Given the description of an element on the screen output the (x, y) to click on. 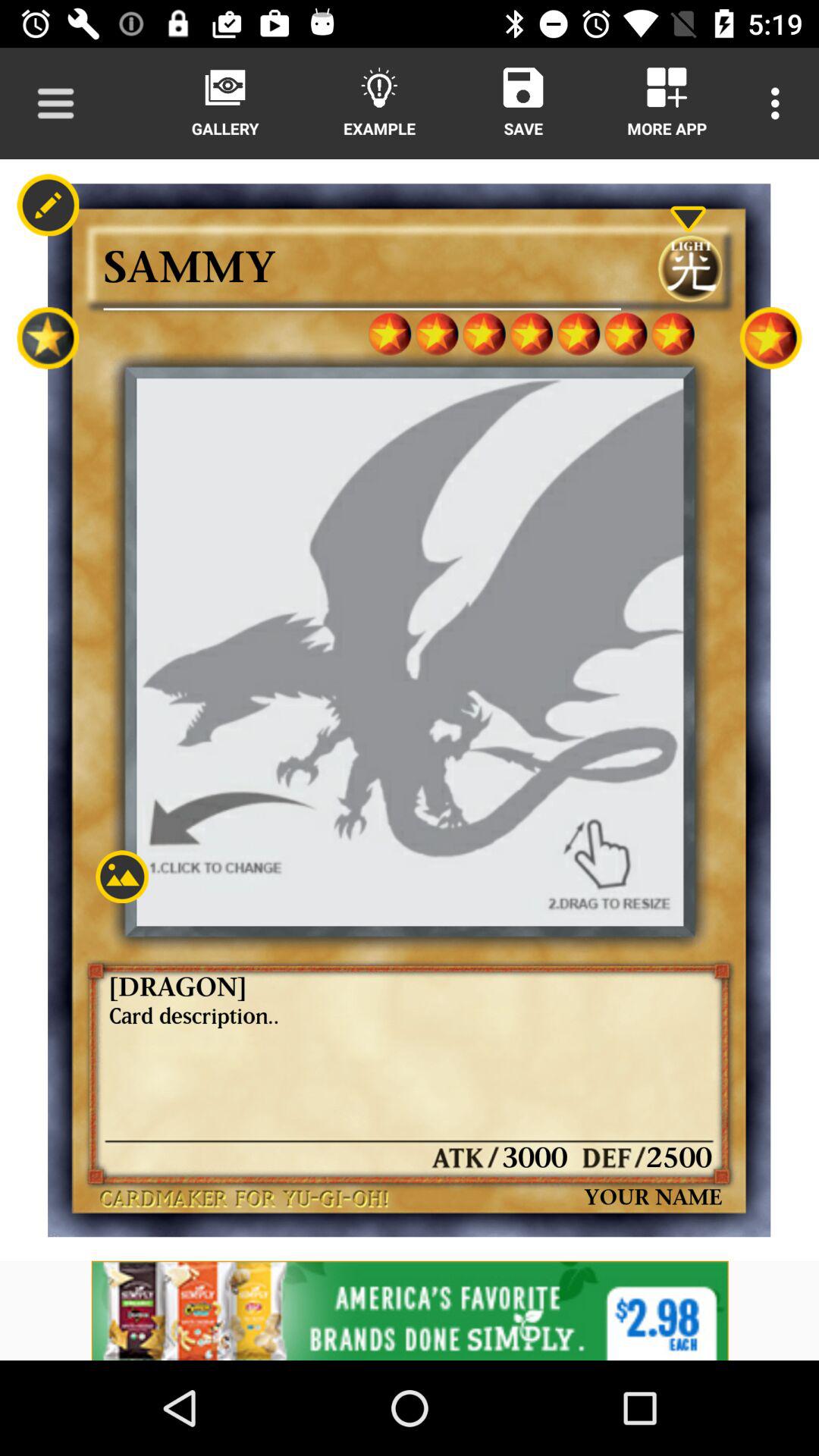
menu button (55, 103)
